Given the description of an element on the screen output the (x, y) to click on. 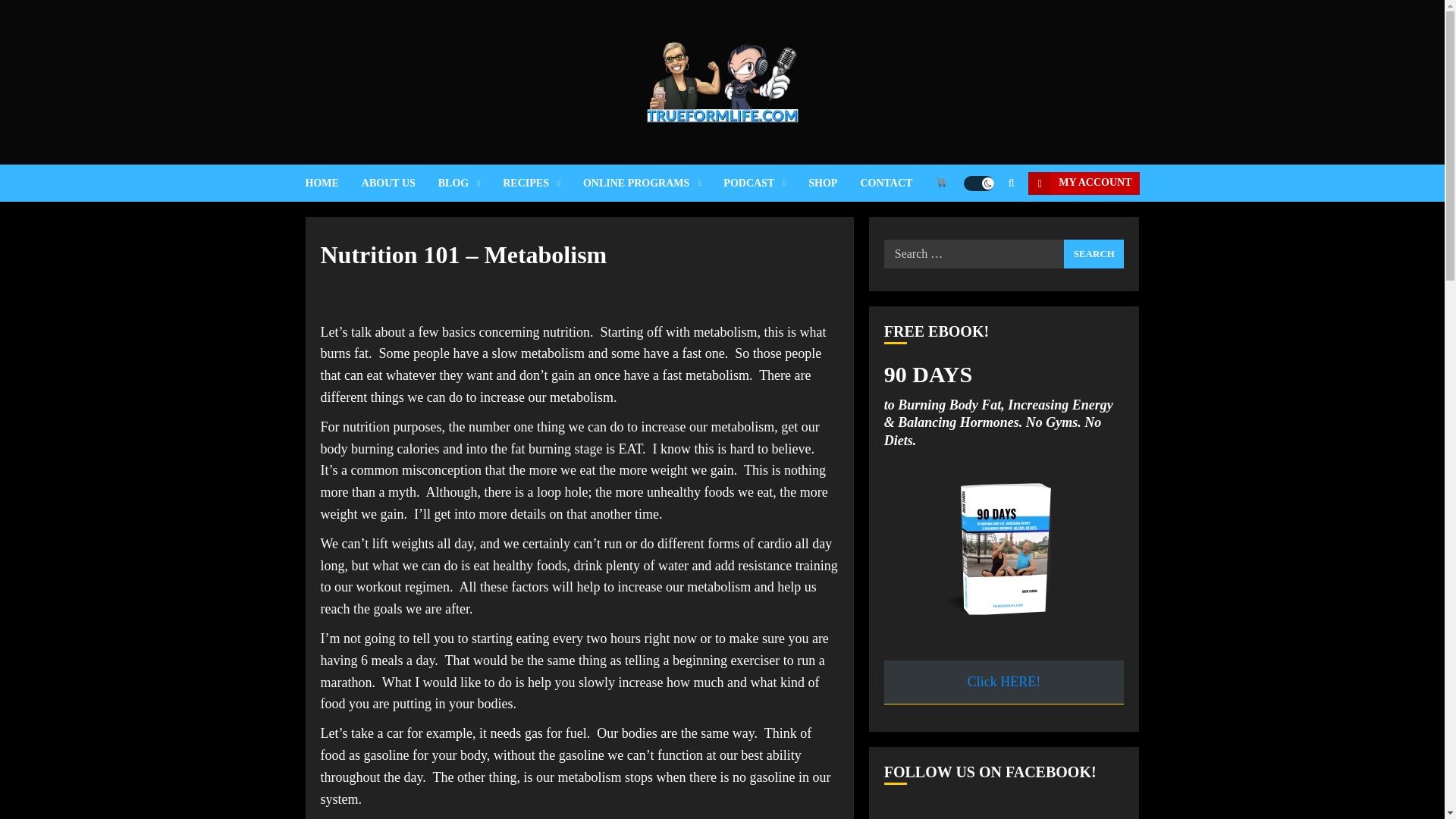
ONLINE PROGRAMS (653, 182)
MY ACCOUNT (1082, 182)
Search (1010, 182)
Search (1094, 253)
BLOG (470, 182)
RECIPES (542, 182)
Search (981, 228)
Search (1094, 253)
CONTACT (897, 182)
ABOUT US (399, 182)
PODCAST (765, 182)
HOME (332, 182)
SHOP (834, 182)
